Given the description of an element on the screen output the (x, y) to click on. 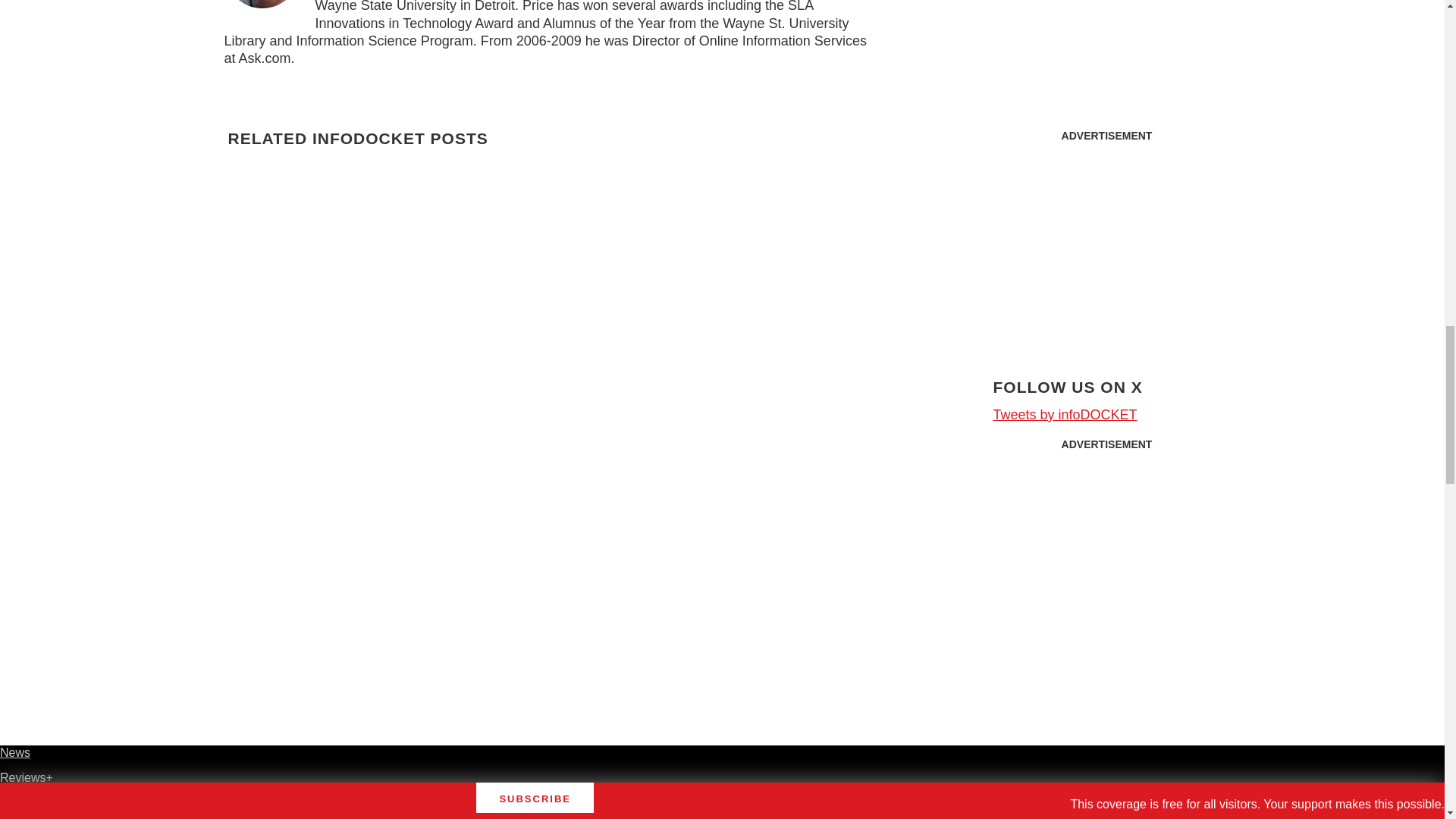
3rd party ad content (1106, 554)
3rd party ad content (1106, 244)
